Given the description of an element on the screen output the (x, y) to click on. 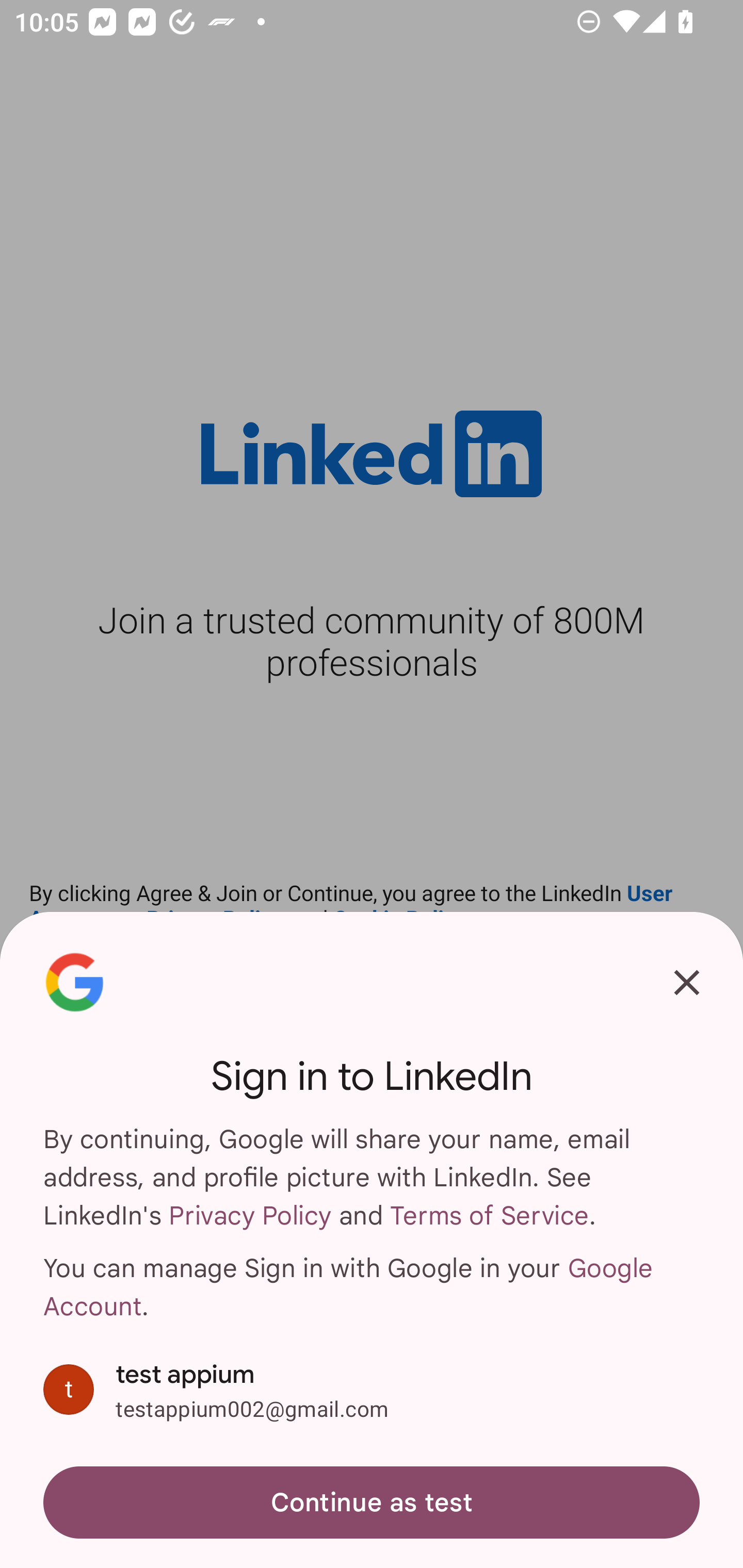
Cancel (686, 982)
Continue as test (371, 1502)
